Given the description of an element on the screen output the (x, y) to click on. 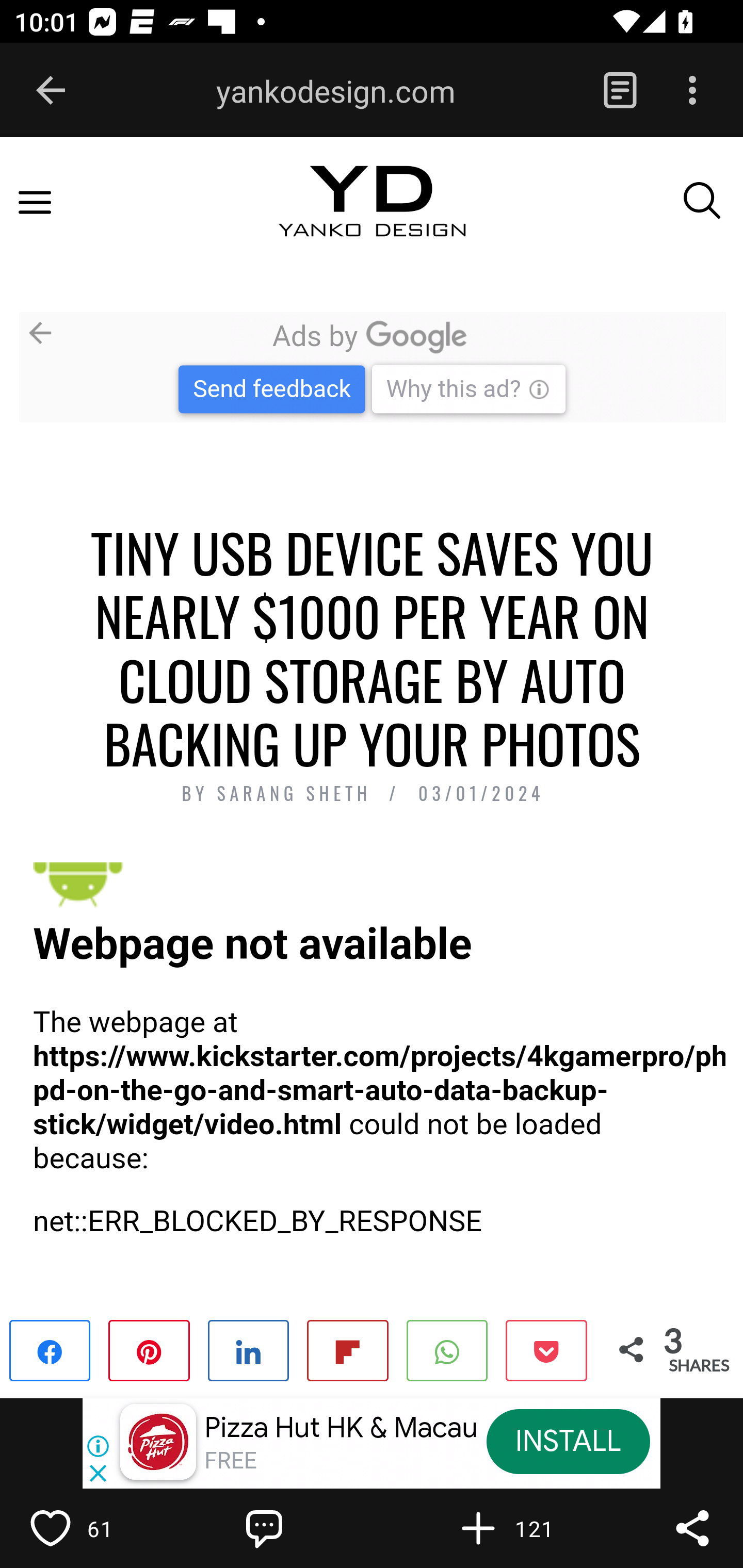
Back (50, 90)
Reader View (619, 90)
Options (692, 90)
Yanko Design - Modern Industrial Design News (371, 218)
Advertisement (371, 366)
SARANG SHETH (298, 794)
k Share k Share (50, 1348)
A Pin A Pin (148, 1348)
s Share s Share (249, 1348)
m Flip m Flip (346, 1348)
T WhatsApp T WhatsApp (447, 1348)
C Pocket C Pocket (545, 1348)
Pizza Hut HK & Macau (340, 1428)
INSTALL (567, 1441)
FREE (230, 1461)
Like 61 (93, 1528)
Write a comment… (307, 1528)
Flip into Magazine 121 (521, 1528)
Share (692, 1528)
